Given the description of an element on the screen output the (x, y) to click on. 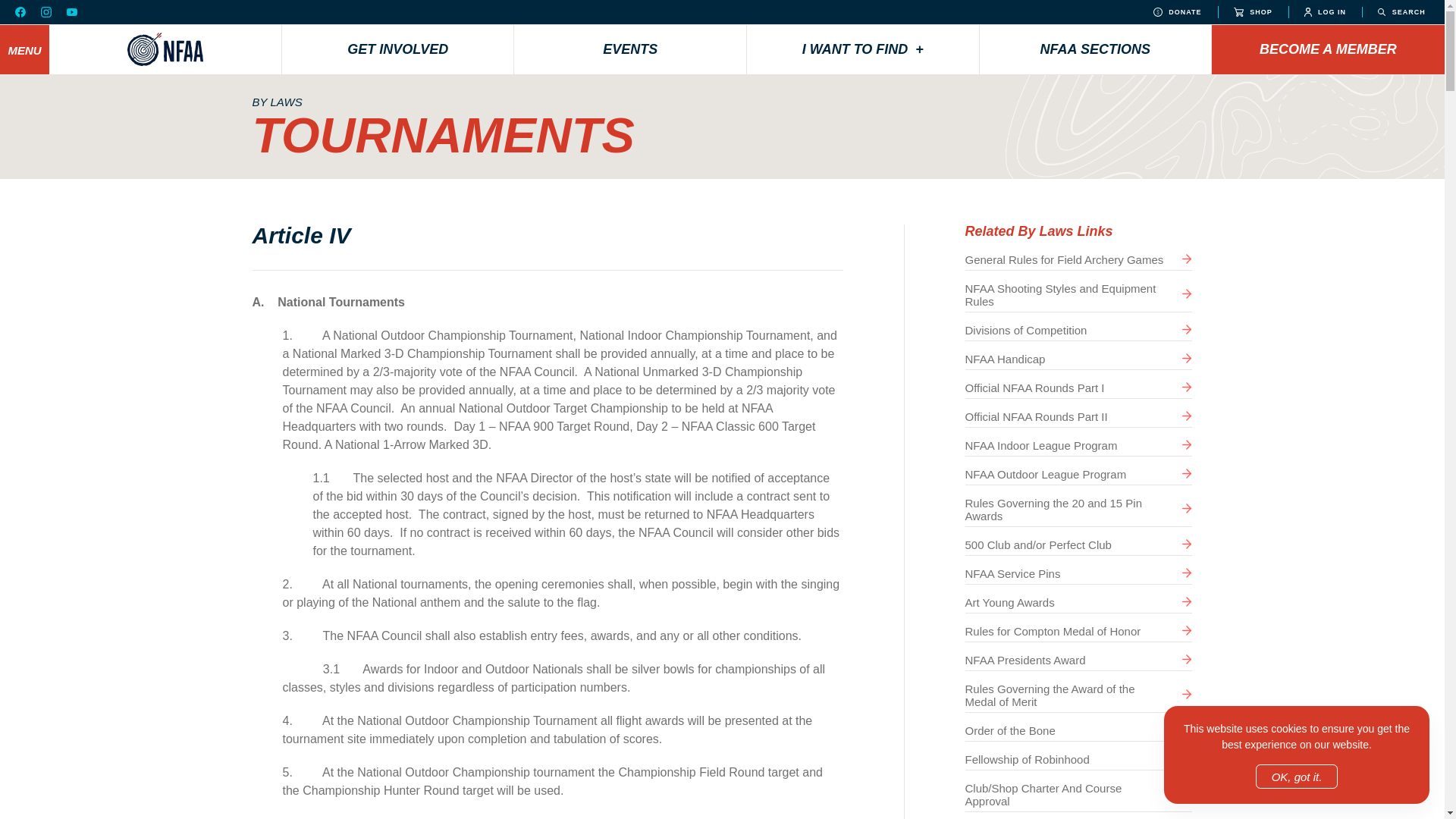
MENU (24, 49)
NFAA SECTIONS (1095, 48)
DONATE (1177, 12)
EVENTS (629, 48)
SHOP (1252, 12)
GET INVOLVED (397, 48)
LOG IN (1324, 12)
SEARCH (1401, 12)
